Given the description of an element on the screen output the (x, y) to click on. 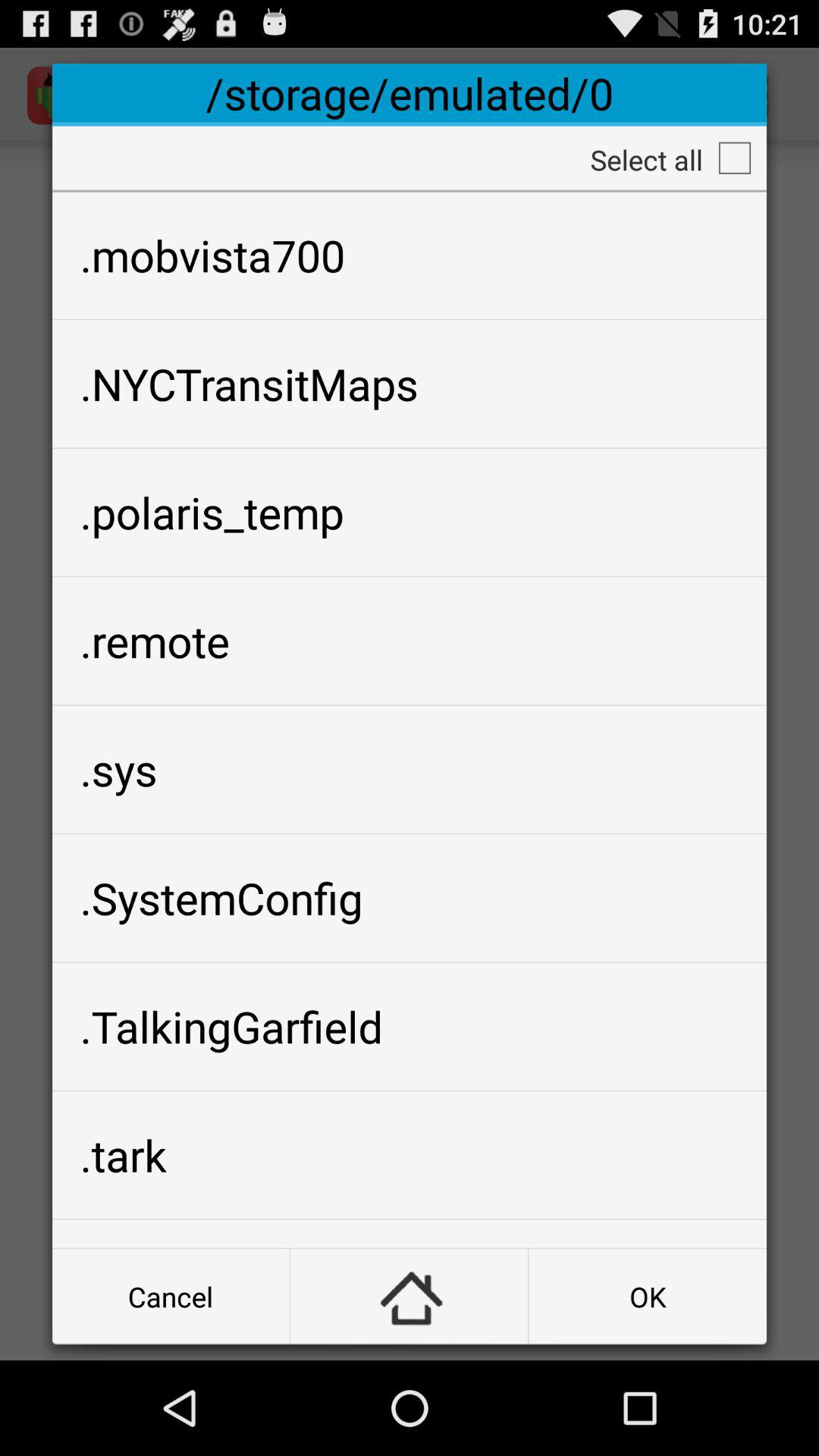
click the app below .transportext icon (647, 1296)
